Given the description of an element on the screen output the (x, y) to click on. 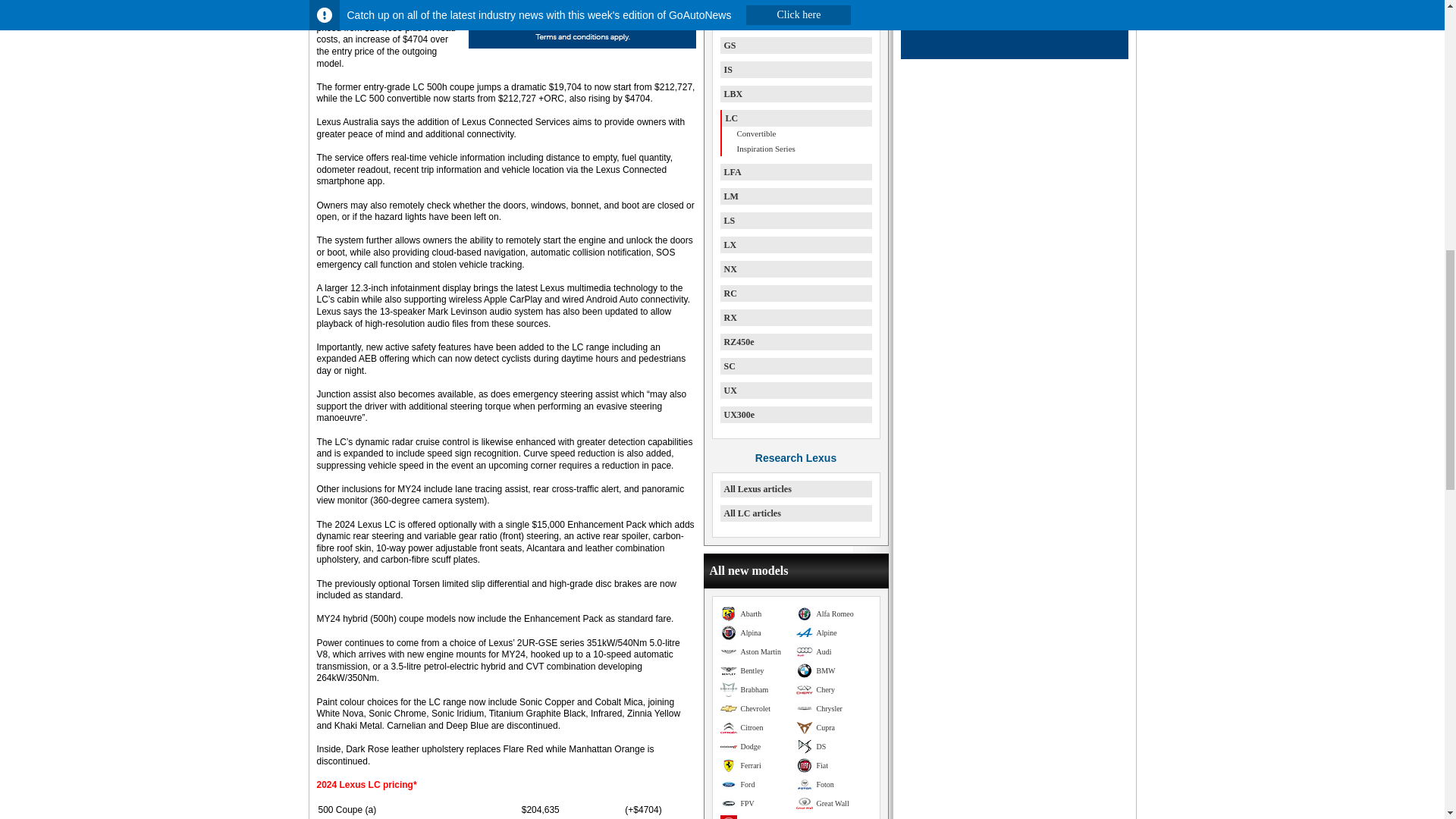
Nodifi Hallf Page ad  October 2023 (1014, 55)
Nodifi Medium Rectangle ad October 2023 (581, 44)
